Given the description of an element on the screen output the (x, y) to click on. 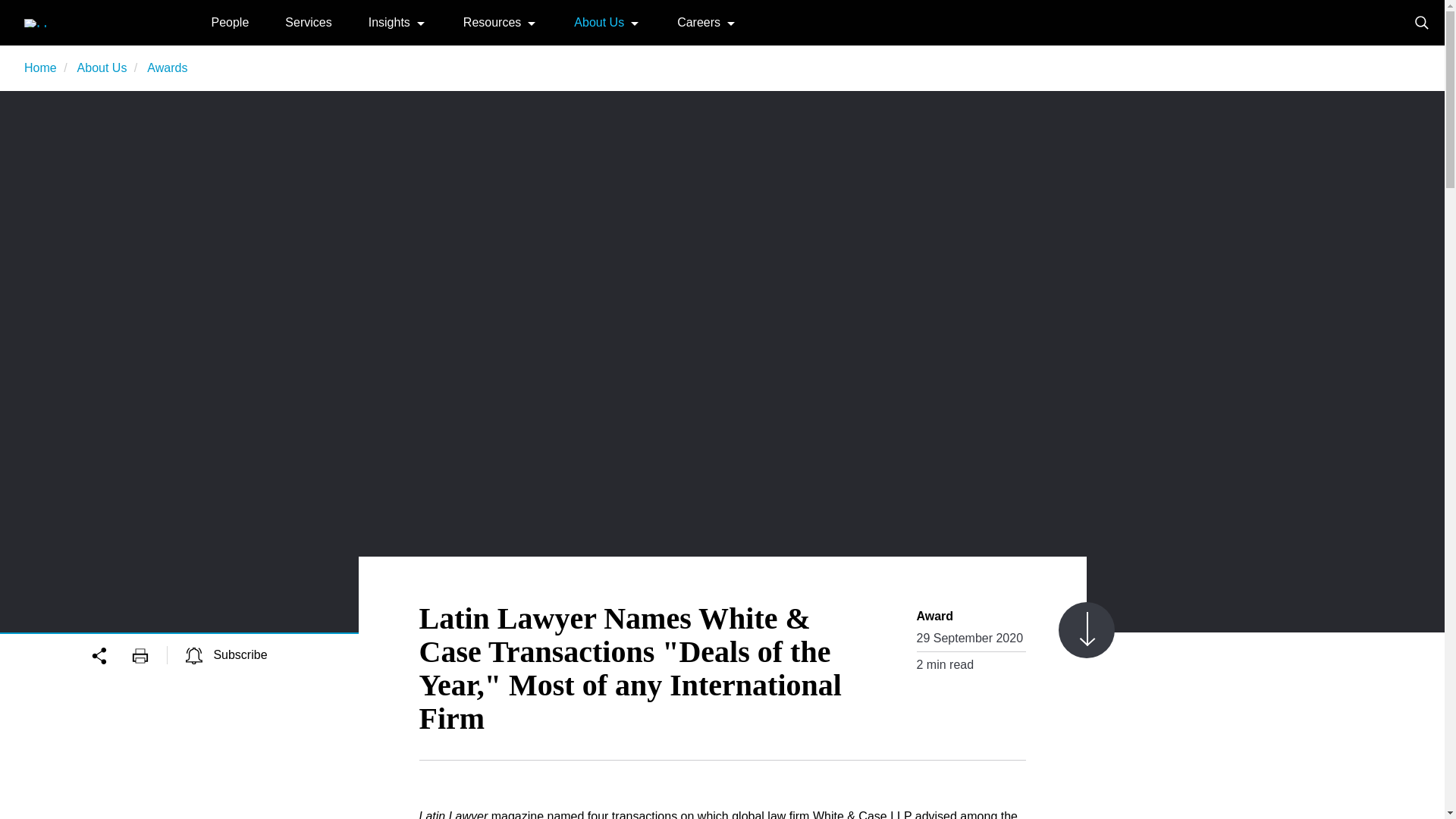
Resources (492, 21)
People (229, 21)
Services (308, 21)
Subscribe (226, 654)
About Us (102, 67)
Careers (698, 21)
Share (111, 654)
Awards (167, 67)
Home (78, 22)
About Us (598, 21)
